Given the description of an element on the screen output the (x, y) to click on. 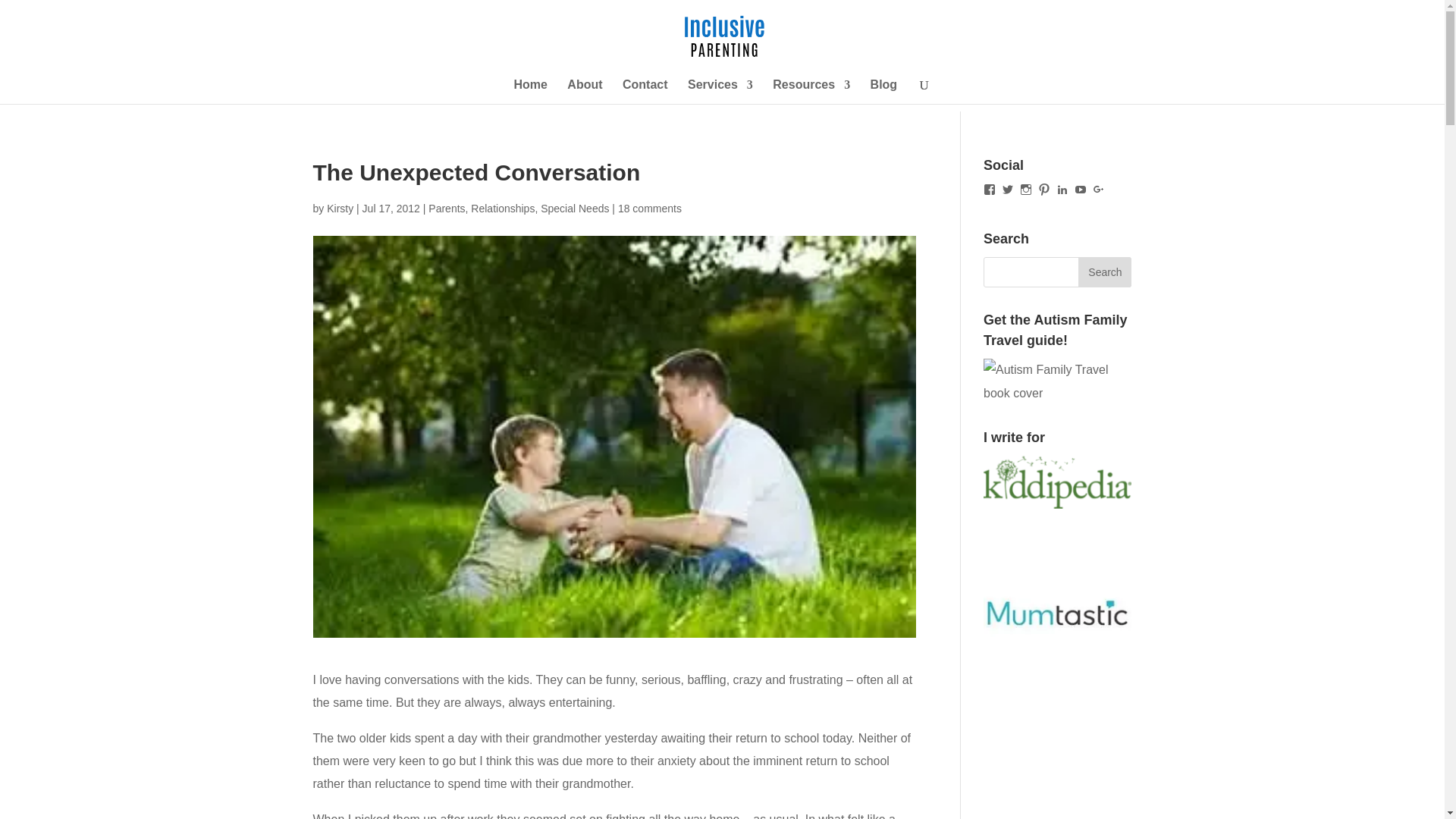
Home (530, 91)
Special Needs (574, 208)
Search (1104, 272)
18 comments (649, 208)
Posts by Kirsty (339, 208)
Kirsty (339, 208)
About (584, 91)
Resources (811, 91)
Contact (645, 91)
Blog (884, 91)
